Given the description of an element on the screen output the (x, y) to click on. 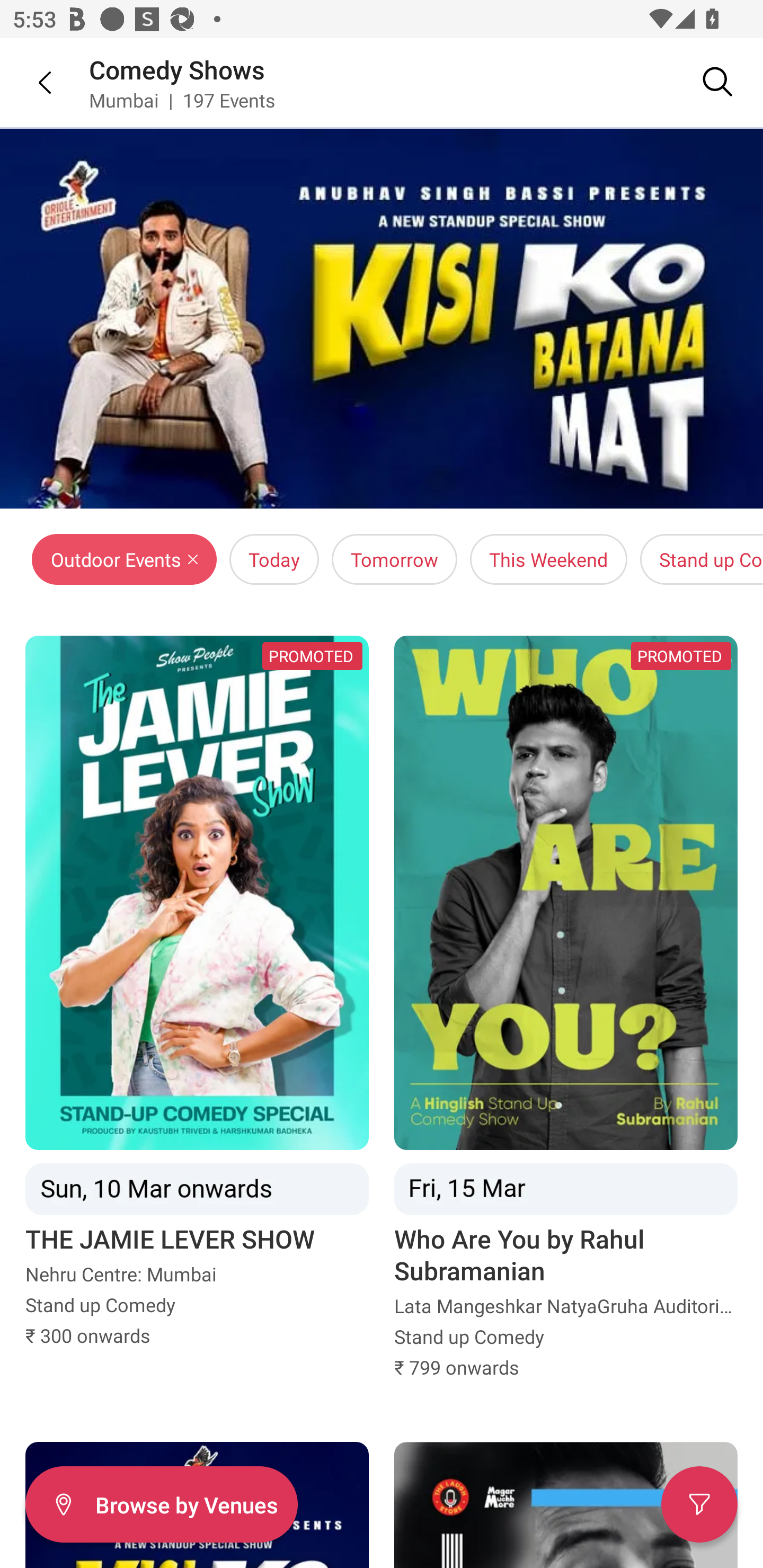
Back (31, 82)
Comedy Shows (176, 68)
Mumbai  |  197 Events (182, 99)
Outdoor Events Close (124, 559)
Today (273, 559)
Tomorrow (394, 559)
This Weekend (548, 559)
Stand up Comedy (701, 559)
Filter Browse by Venues (161, 1504)
Filter (699, 1504)
